Given the description of an element on the screen output the (x, y) to click on. 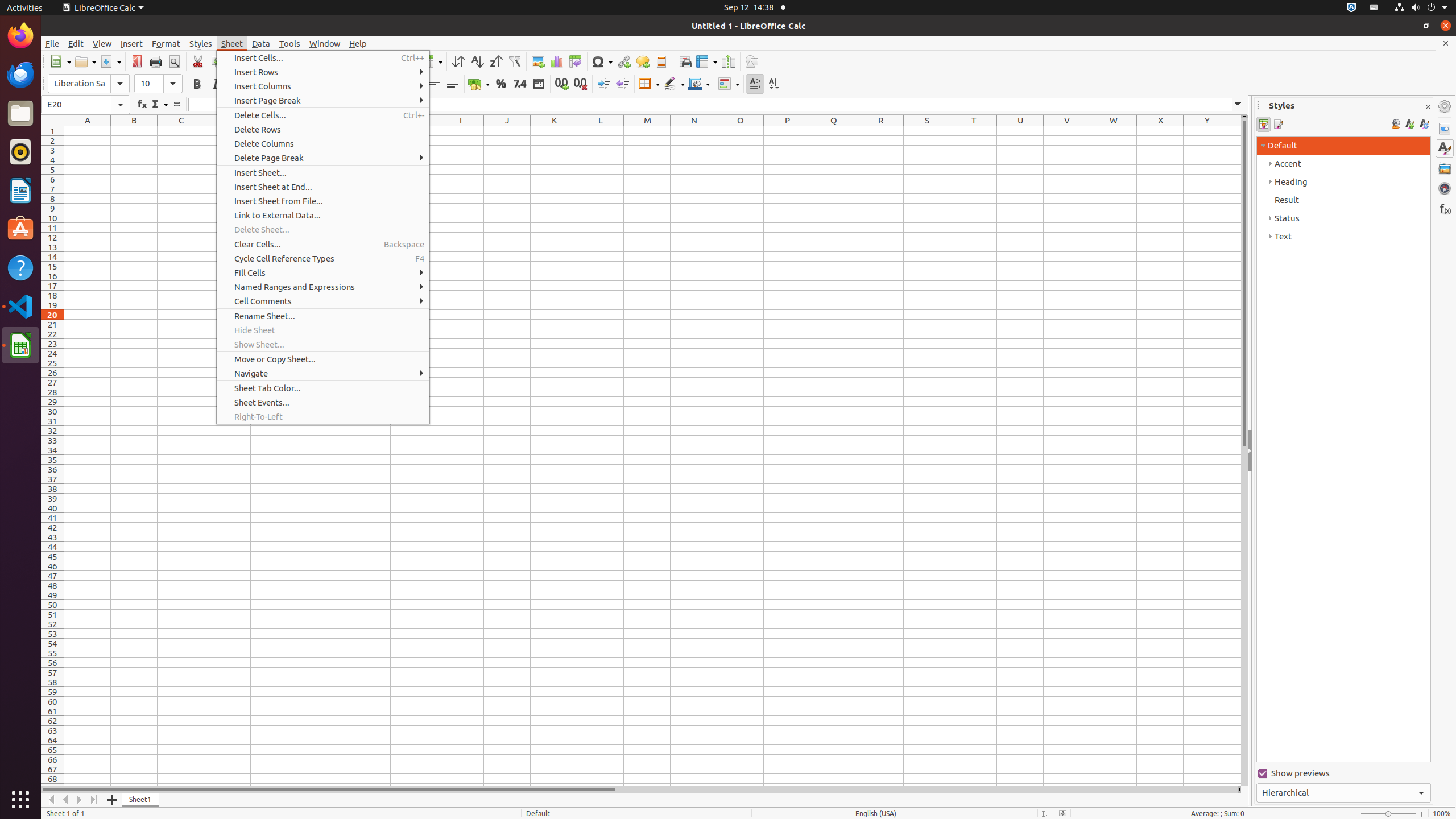
Horizontal scroll bar Element type: scroll-bar (639, 789)
Sheet Element type: menu (231, 43)
Formula Element type: push-button (176, 104)
Increase Element type: push-button (603, 83)
Insert Sheet at End... Element type: menu-item (322, 186)
